Given the description of an element on the screen output the (x, y) to click on. 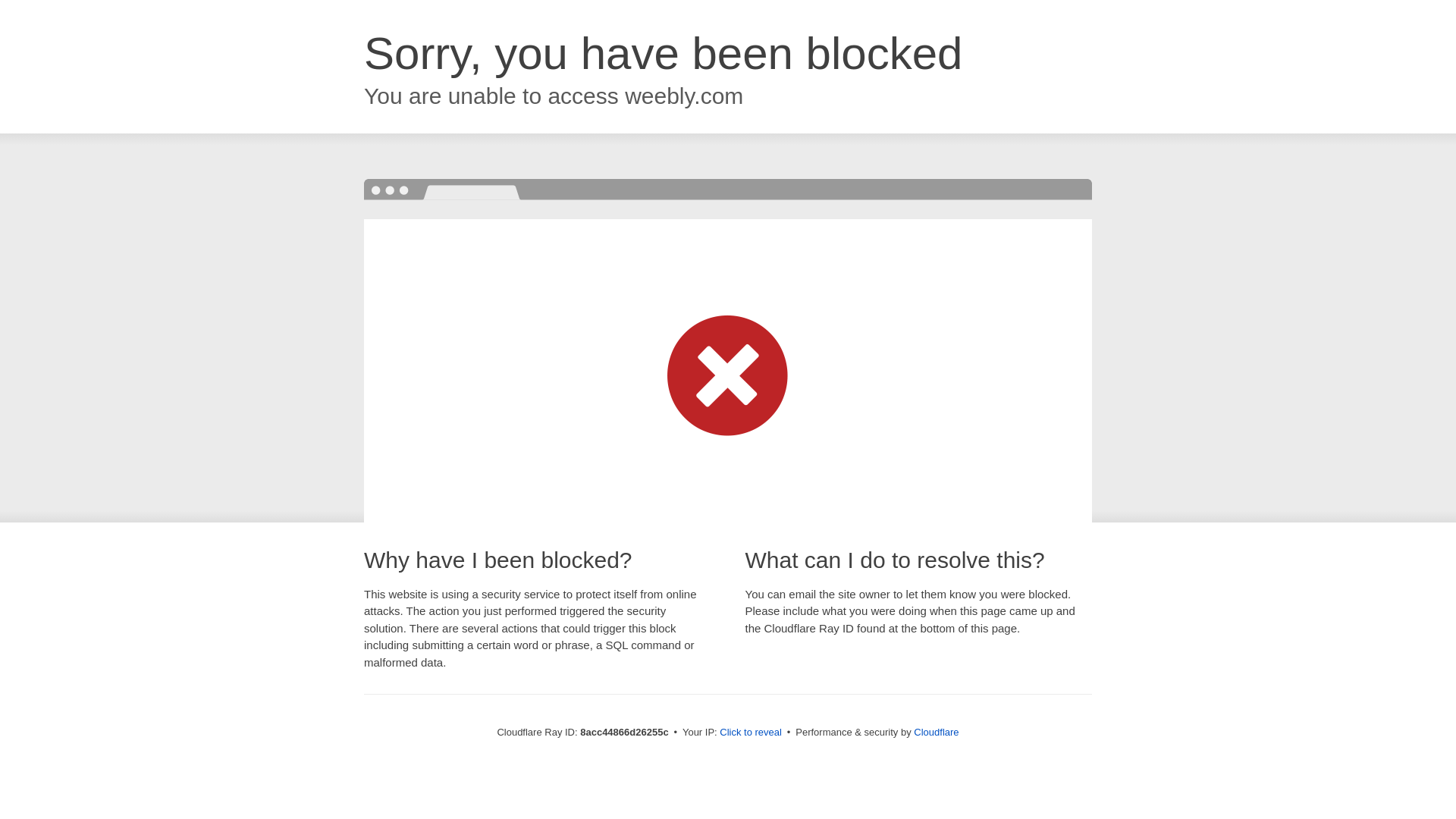
Cloudflare (936, 731)
Click to reveal (750, 732)
